Given the description of an element on the screen output the (x, y) to click on. 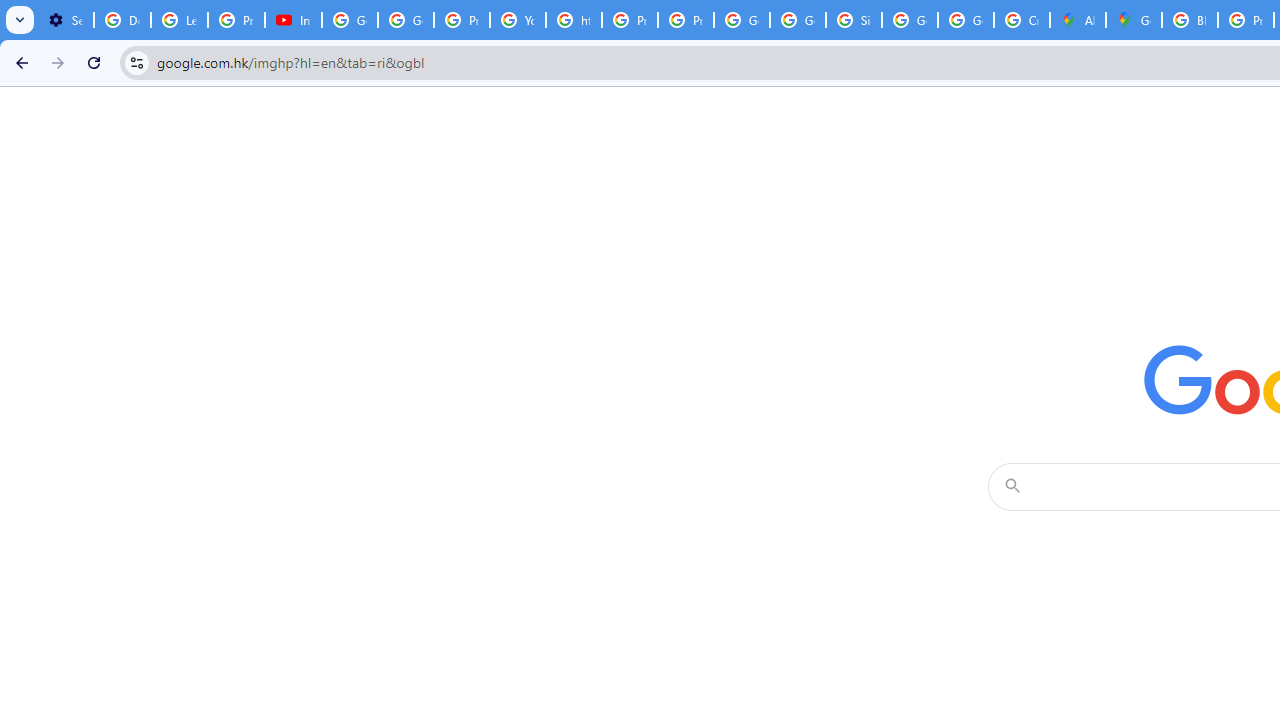
Introduction | Google Privacy Policy - YouTube (293, 20)
Settings - Customize profile (65, 20)
Blogger Policies and Guidelines - Transparency Center (1190, 20)
Learn how to find your photos - Google Photos Help (179, 20)
https://scholar.google.com/ (573, 20)
Privacy Help Center - Policies Help (461, 20)
